Given the description of an element on the screen output the (x, y) to click on. 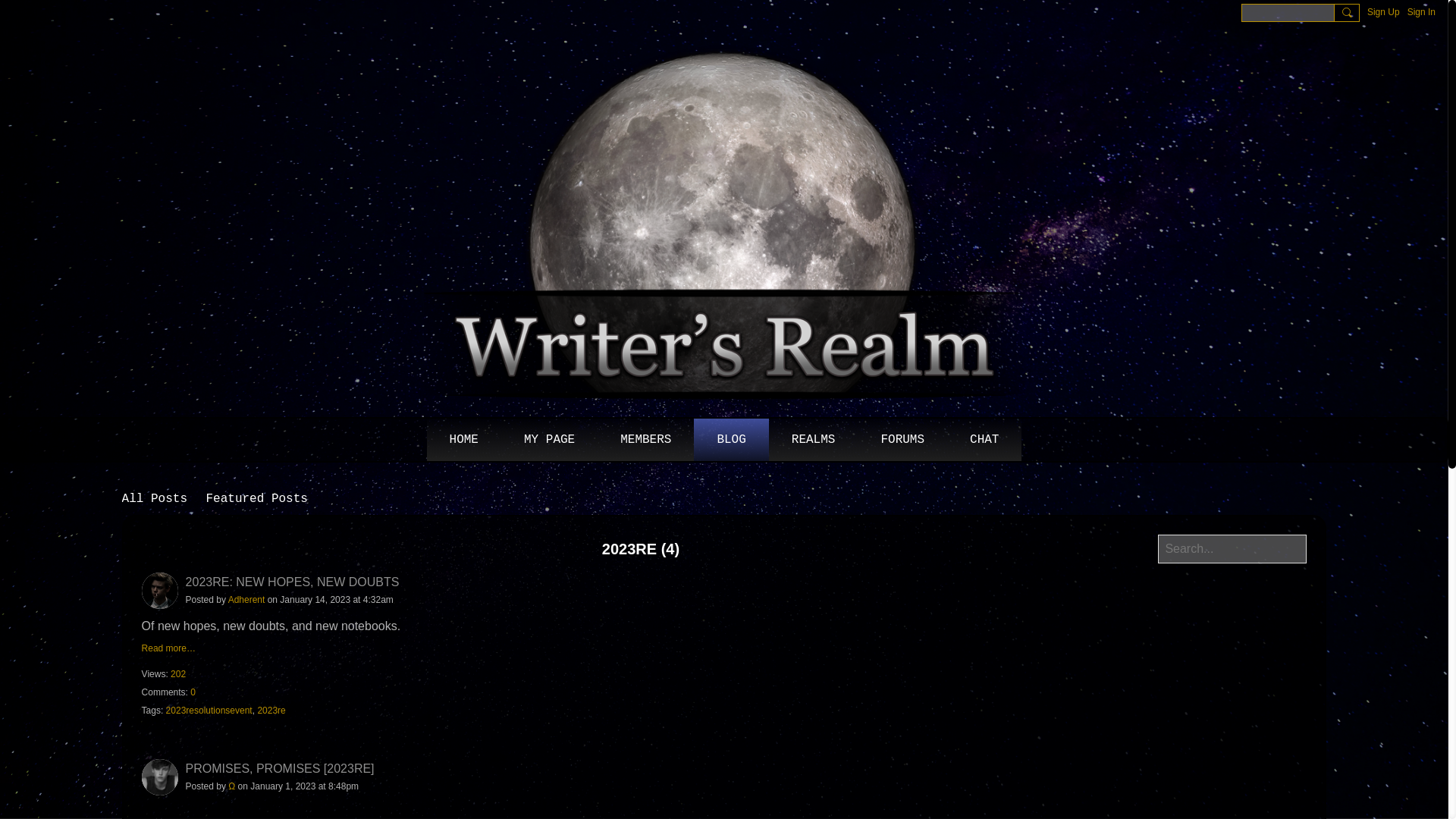
2023RE: NEW HOPES, NEW DOUBTS (292, 581)
REALMS (813, 439)
Adherent (246, 599)
BLOG (731, 439)
Sign In (1421, 12)
Featured Posts (256, 498)
MEMBERS (645, 439)
202 (178, 674)
CHAT (984, 439)
FORUMS (902, 439)
All Posts (154, 498)
MY PAGE (548, 439)
2023re (271, 710)
HOME (463, 439)
2023resolutionsevent (208, 710)
